Given the description of an element on the screen output the (x, y) to click on. 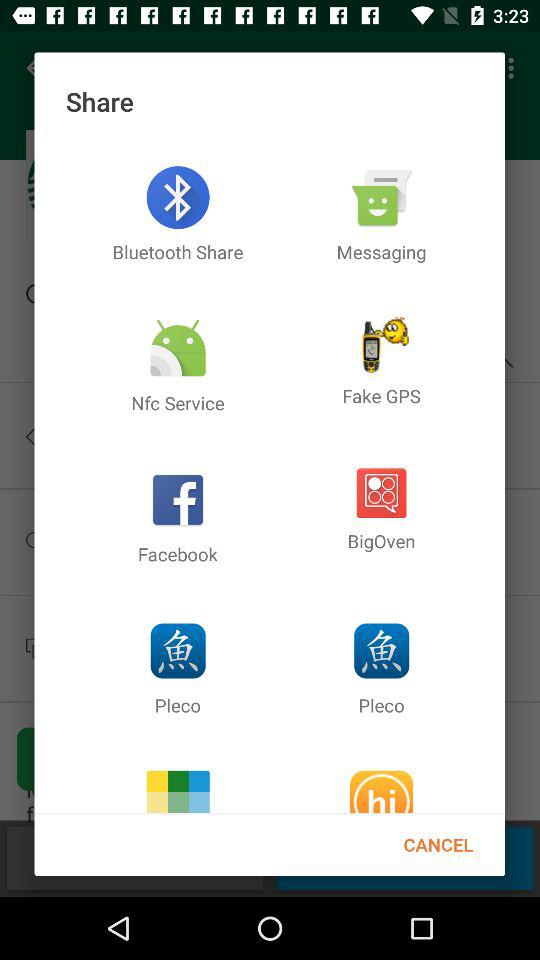
click the cancel (438, 844)
